Given the description of an element on the screen output the (x, y) to click on. 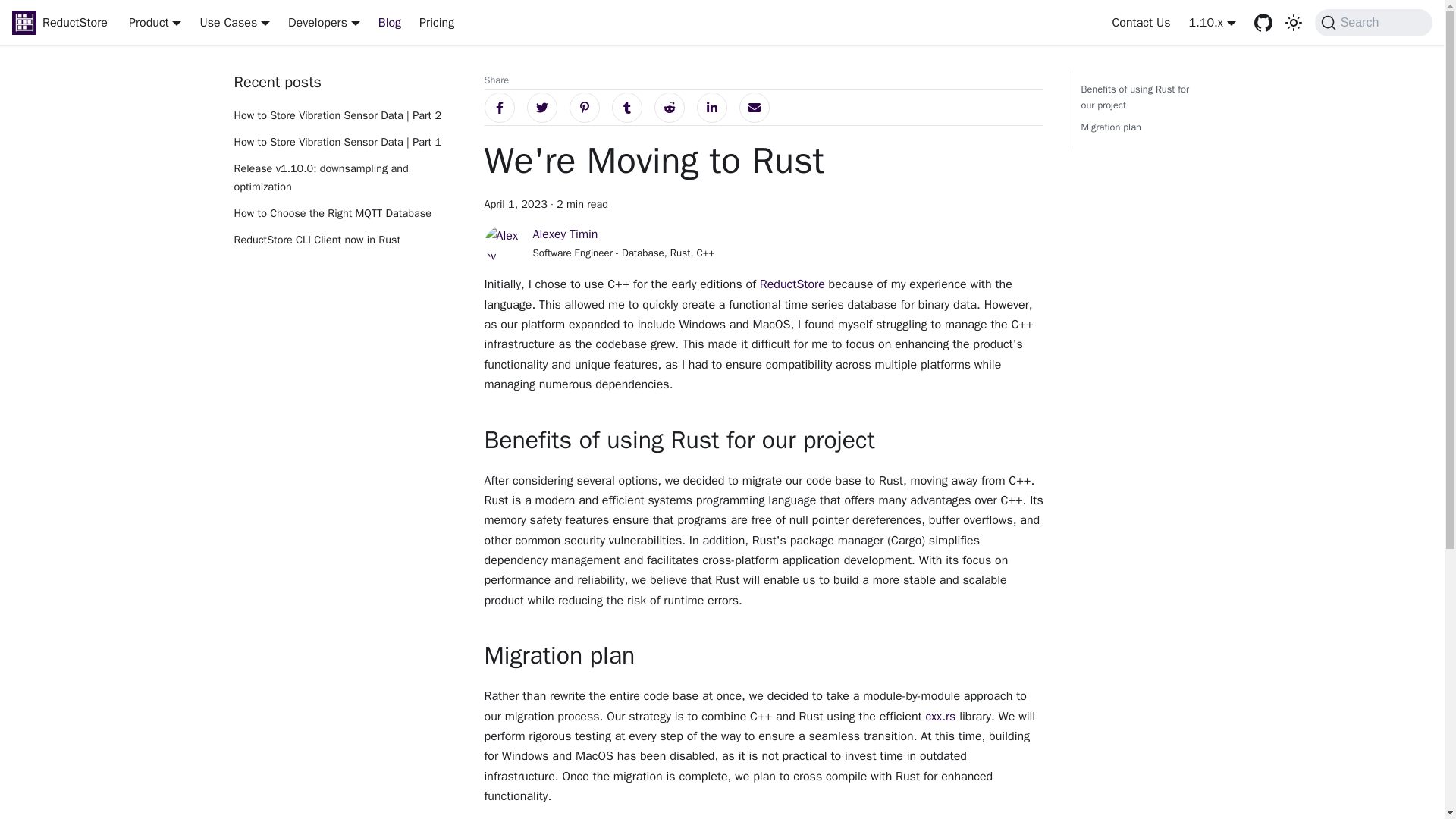
Use Cases (234, 22)
How to Choose the Right MQTT Database (346, 213)
Product (155, 22)
Share via Email (753, 107)
Share on Facebook (498, 107)
Share on Reddit (668, 107)
Share on LinkedIn (1138, 108)
Share on Twitter (710, 107)
Developers (540, 107)
Blog (323, 22)
Search (389, 22)
Contact Us (1373, 22)
ReductStore CLI Client now in Rust (1140, 22)
Share on Pinterest (346, 239)
